Given the description of an element on the screen output the (x, y) to click on. 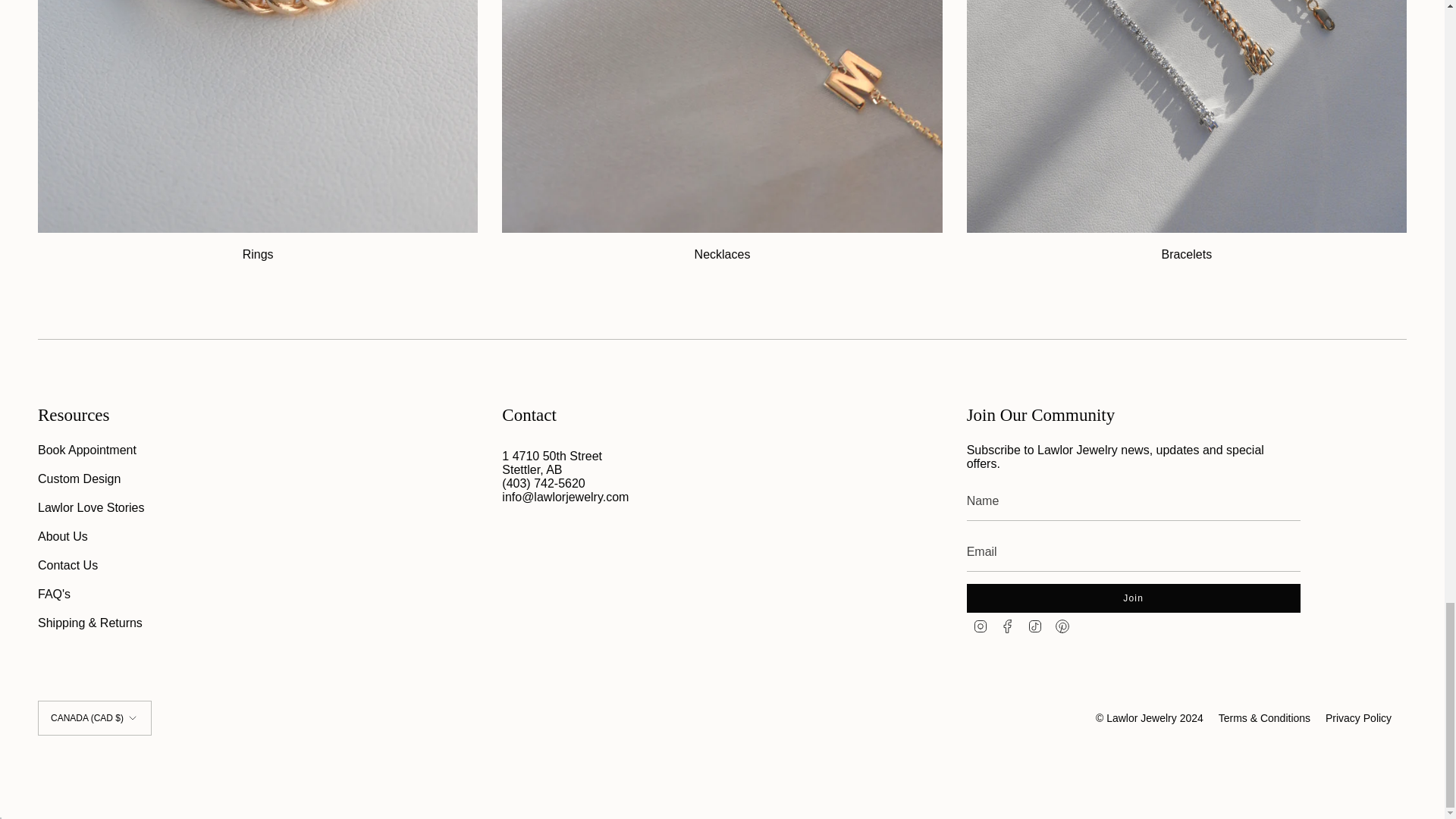
Lawlor Jewelry on Pinterest (1062, 625)
Lawlor Jewelry on Instagram (980, 625)
Lawlor Jewelry on Facebook (1007, 625)
Lawlor Jewelry on TikTok (1034, 625)
